Given the description of an element on the screen output the (x, y) to click on. 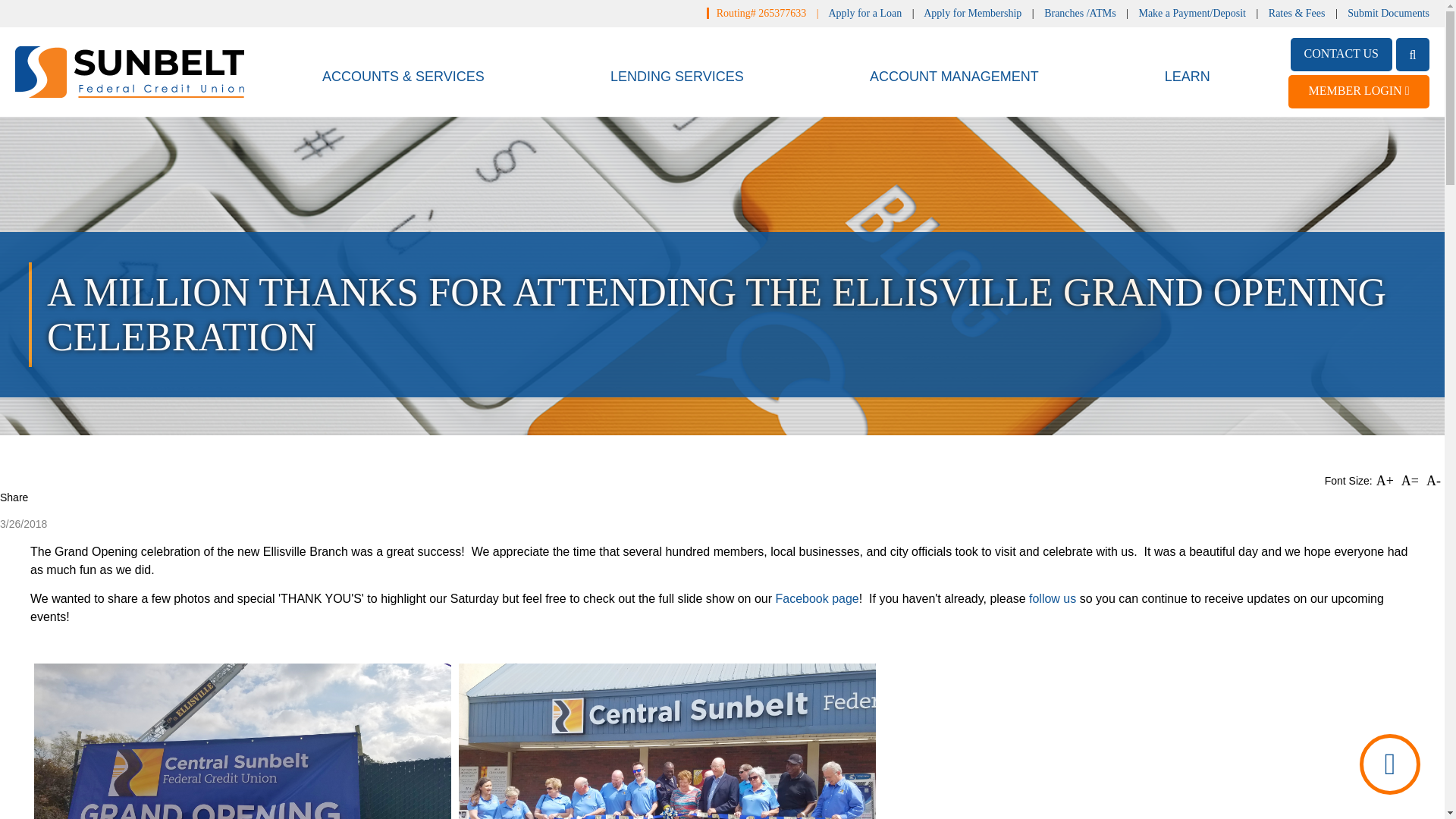
A- (1433, 480)
Video Banking (1390, 763)
Sunbelt FCU (129, 71)
